Given the description of an element on the screen output the (x, y) to click on. 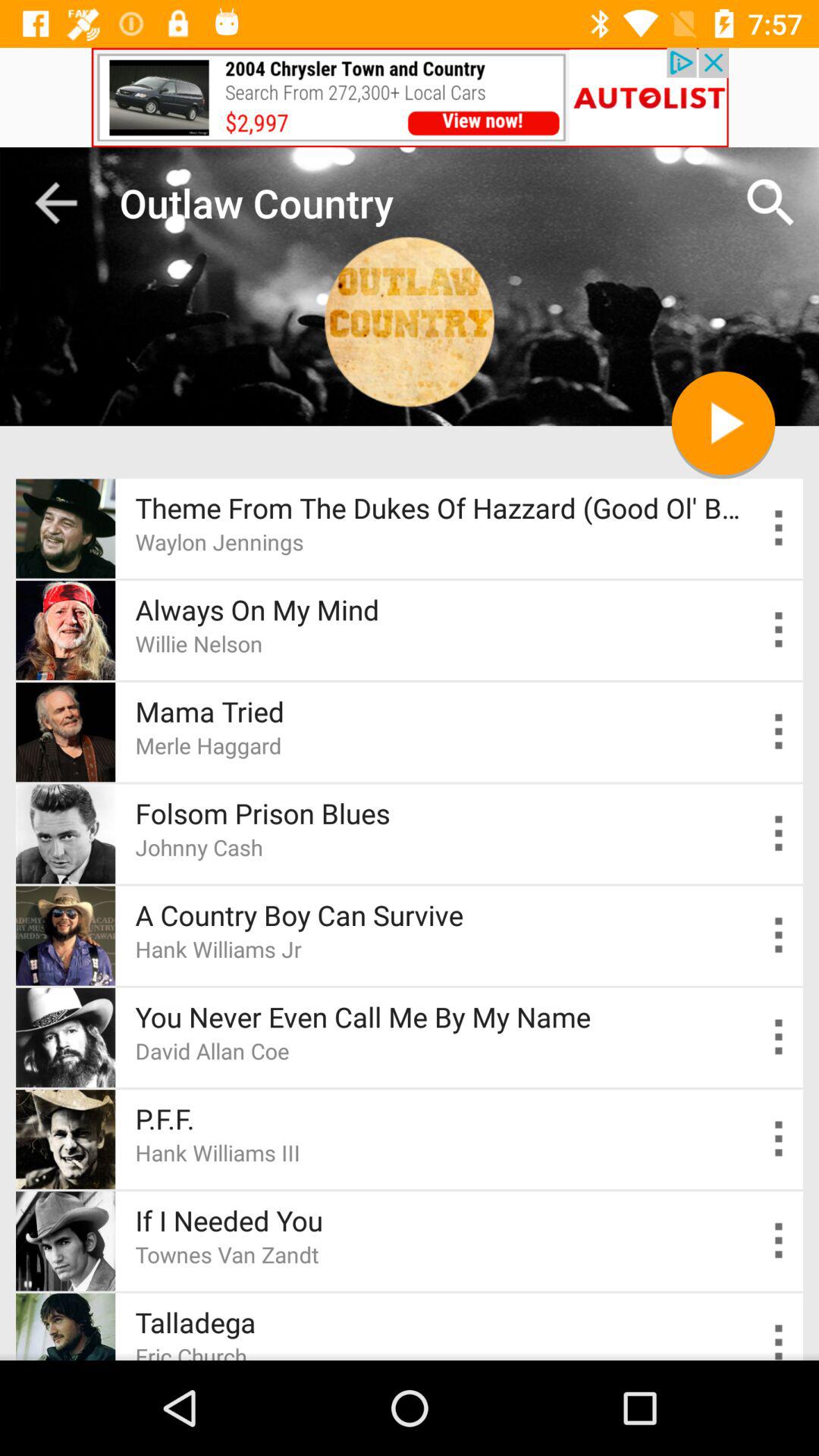
menu button (779, 1037)
